Given the description of an element on the screen output the (x, y) to click on. 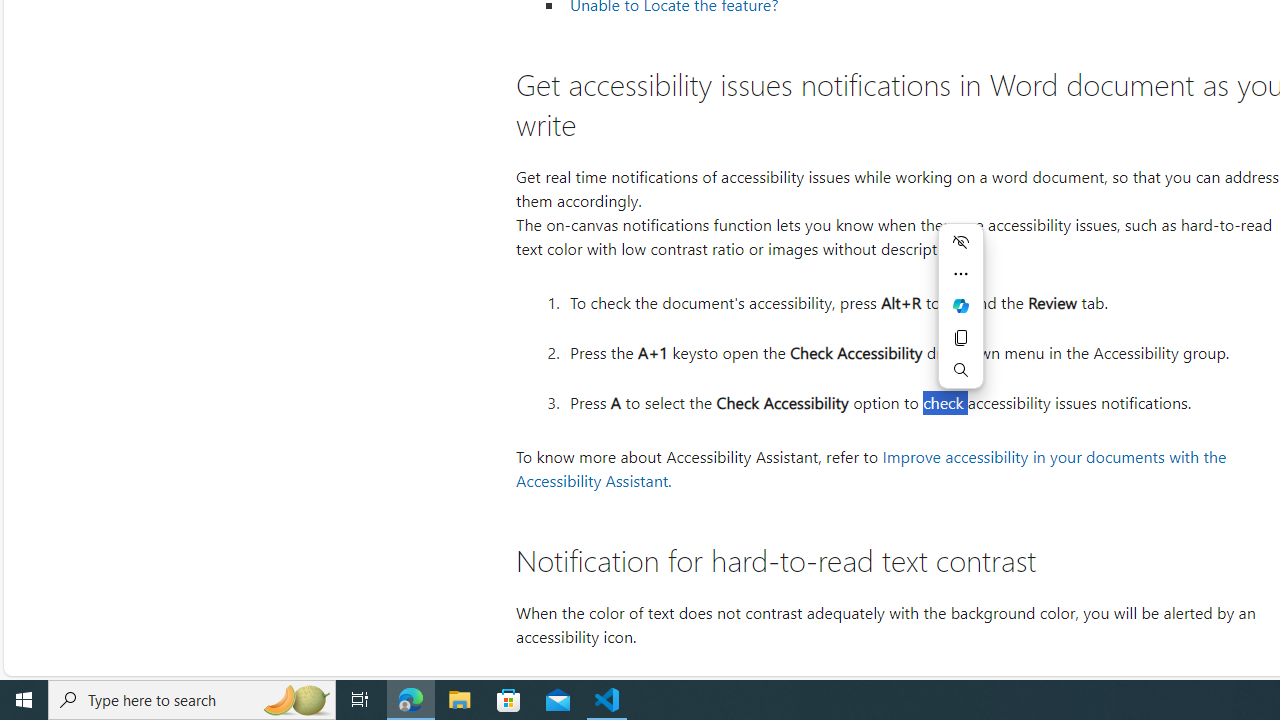
Hide menu (961, 241)
Mini menu on text selection (961, 318)
Mini menu on text selection (961, 305)
More actions (961, 273)
Copy (961, 337)
Ask Copilot (961, 305)
